Given the description of an element on the screen output the (x, y) to click on. 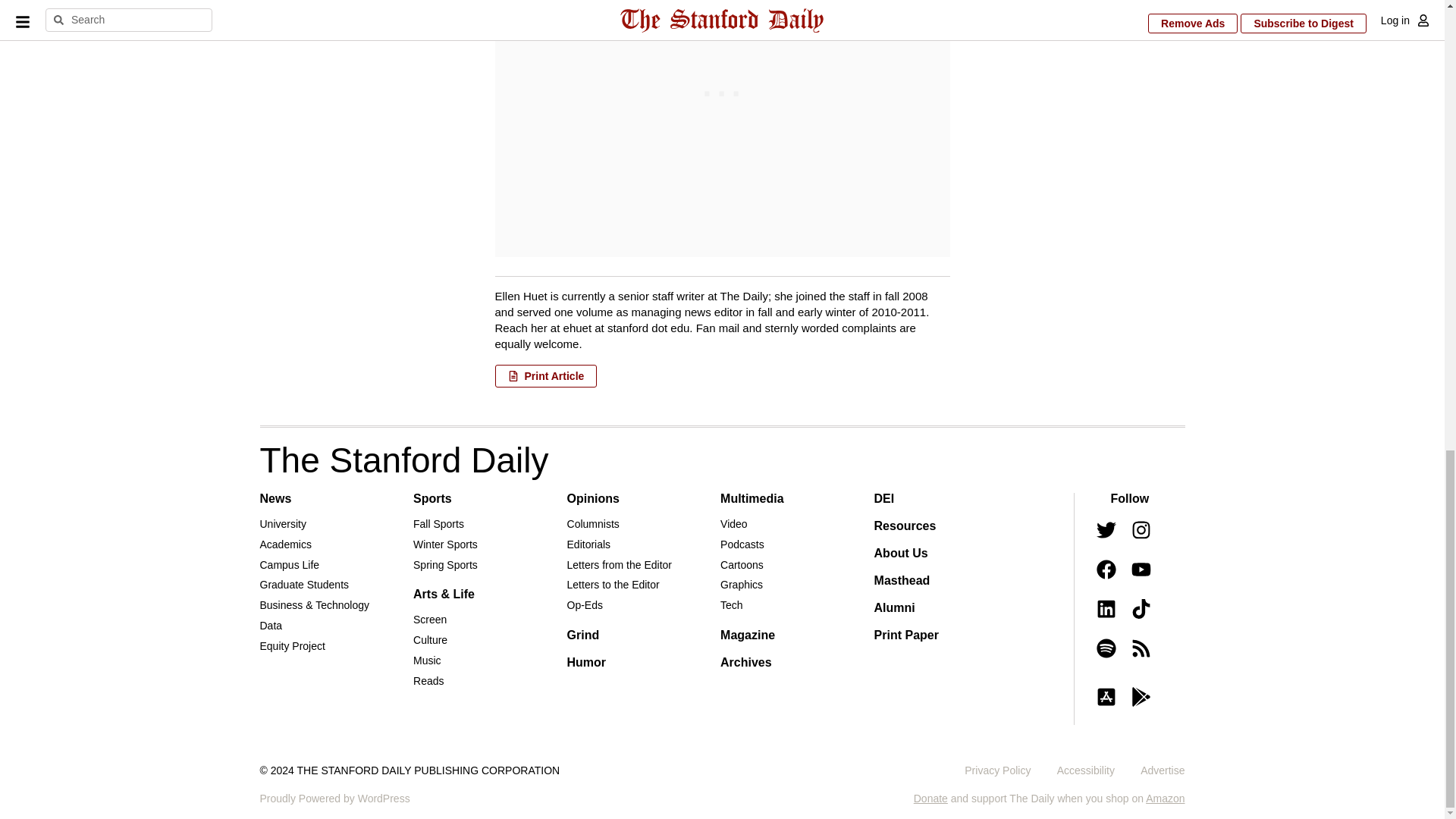
The Stanford Daily (403, 459)
Print Article (545, 375)
